Given the description of an element on the screen output the (x, y) to click on. 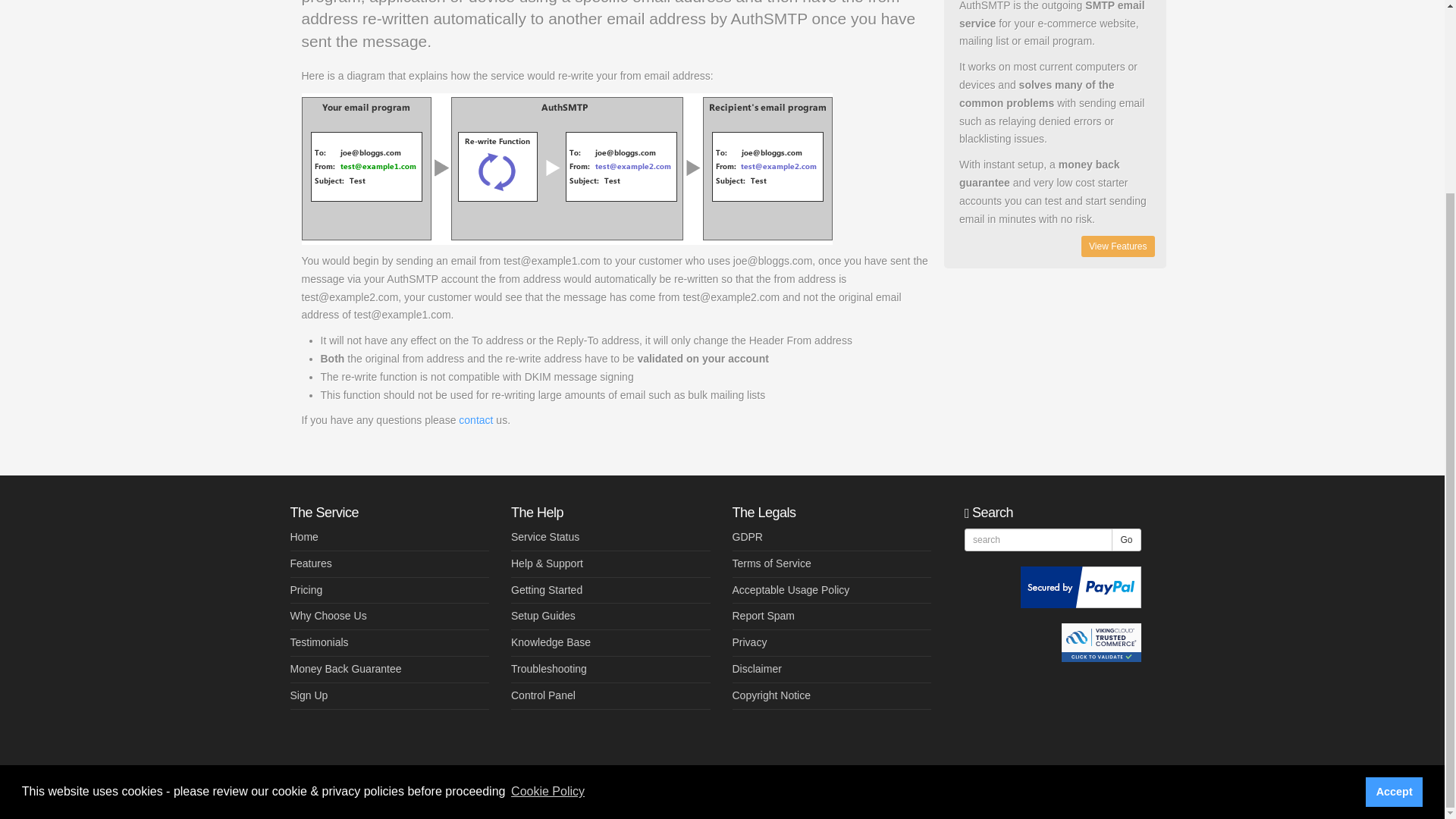
Cookie Policy (547, 548)
Why Choose Us (327, 615)
GDPR (747, 536)
Accept (1393, 548)
Knowledge Base (551, 642)
Setup Guides (543, 615)
Troubleshooting (548, 668)
View Features (1117, 246)
Pricing (305, 589)
How PayPal Works (1080, 585)
Terms of Service (771, 563)
Privacy (749, 642)
Sign Up (308, 695)
Money Back Guarantee (345, 668)
